Given the description of an element on the screen output the (x, y) to click on. 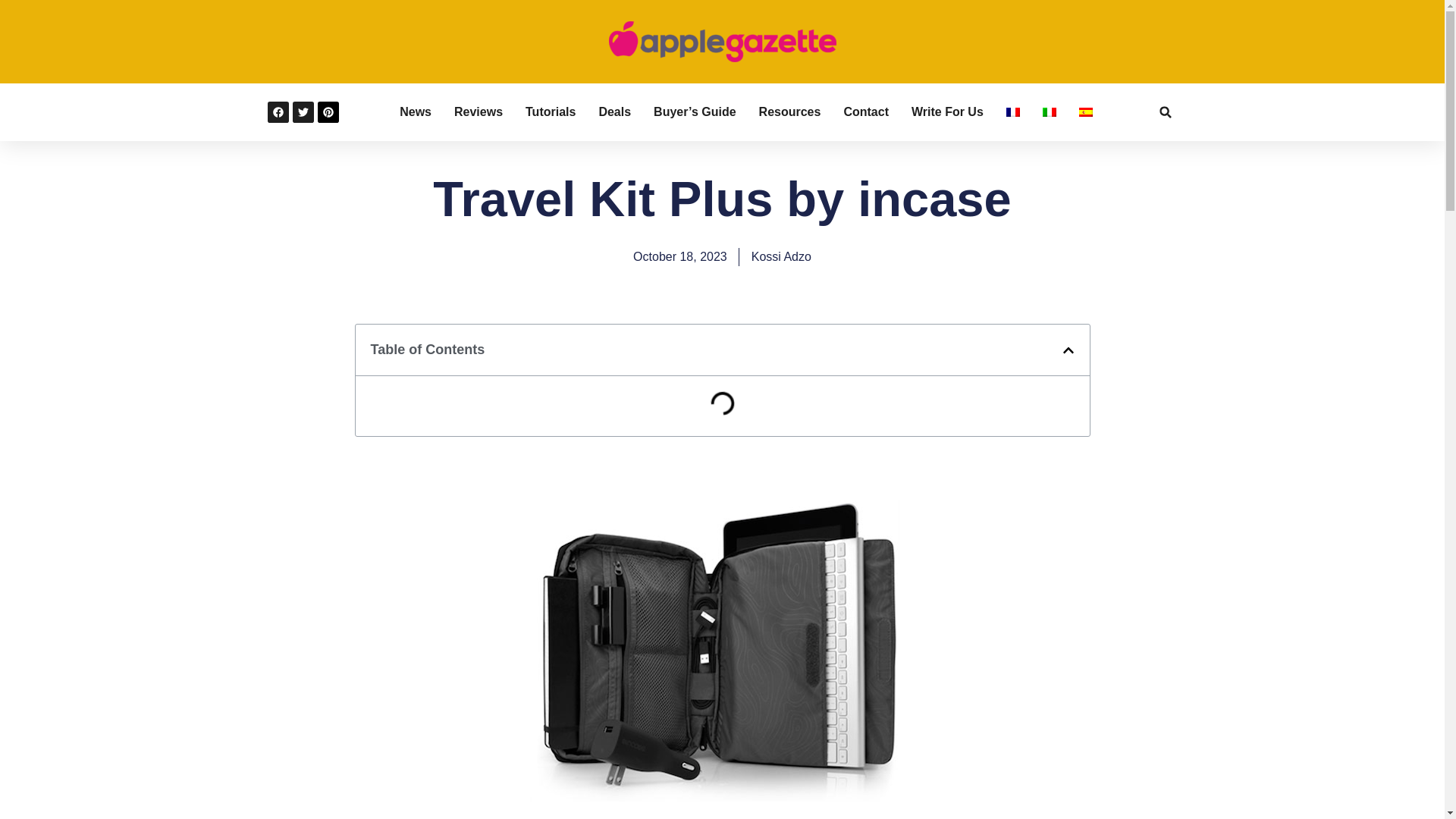
Contact (865, 112)
Resources (789, 112)
News (414, 112)
Tutorials (550, 112)
Reviews (478, 112)
Write For Us (947, 112)
Deals (614, 112)
Screen shot 2010-04-13 at 7.47.25 PM (722, 643)
